Given the description of an element on the screen output the (x, y) to click on. 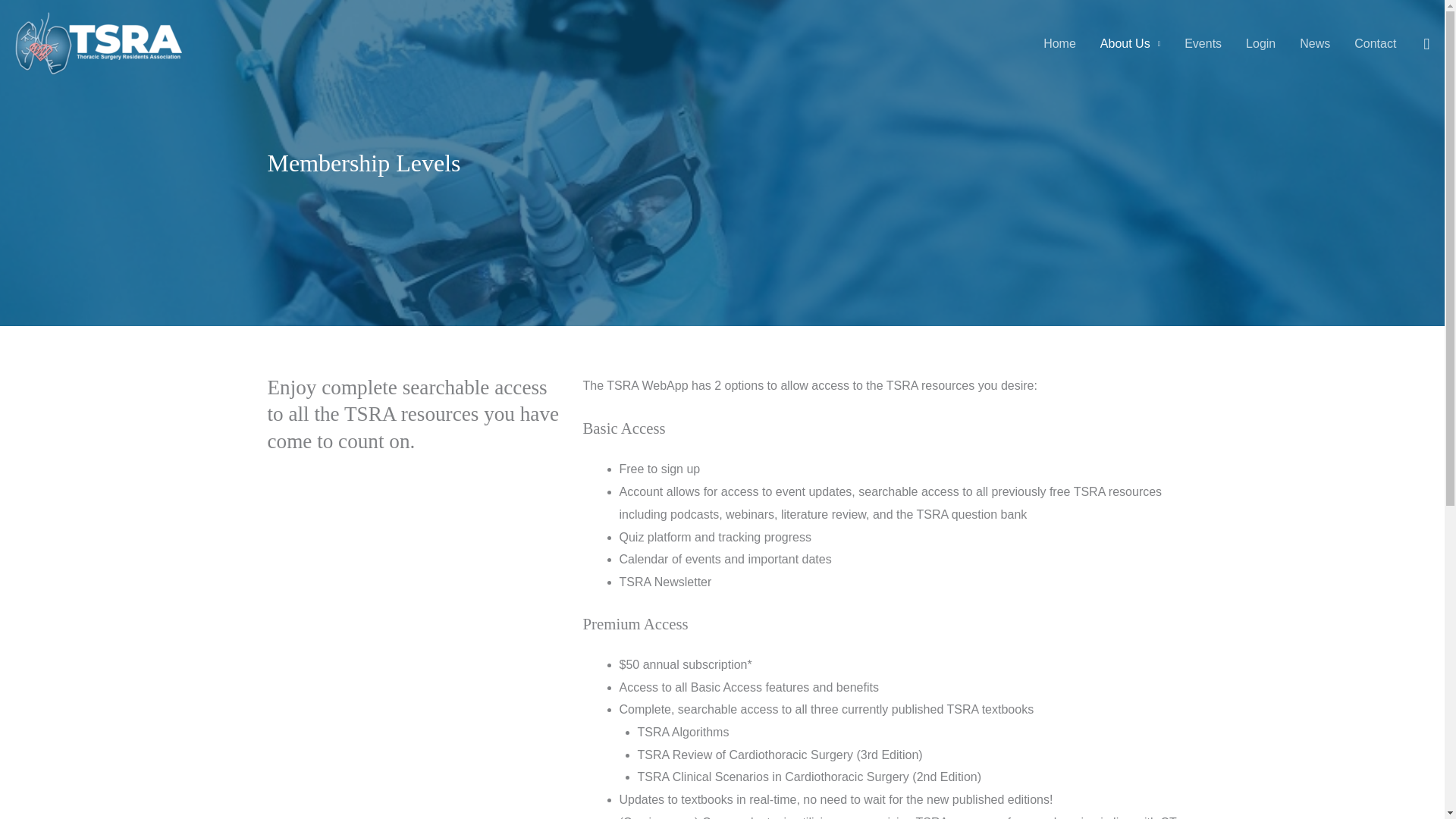
Contact (1374, 42)
News (1314, 42)
Events (1202, 42)
Login (1260, 42)
Search (1426, 44)
Home (1058, 42)
About Us (1129, 42)
